Given the description of an element on the screen output the (x, y) to click on. 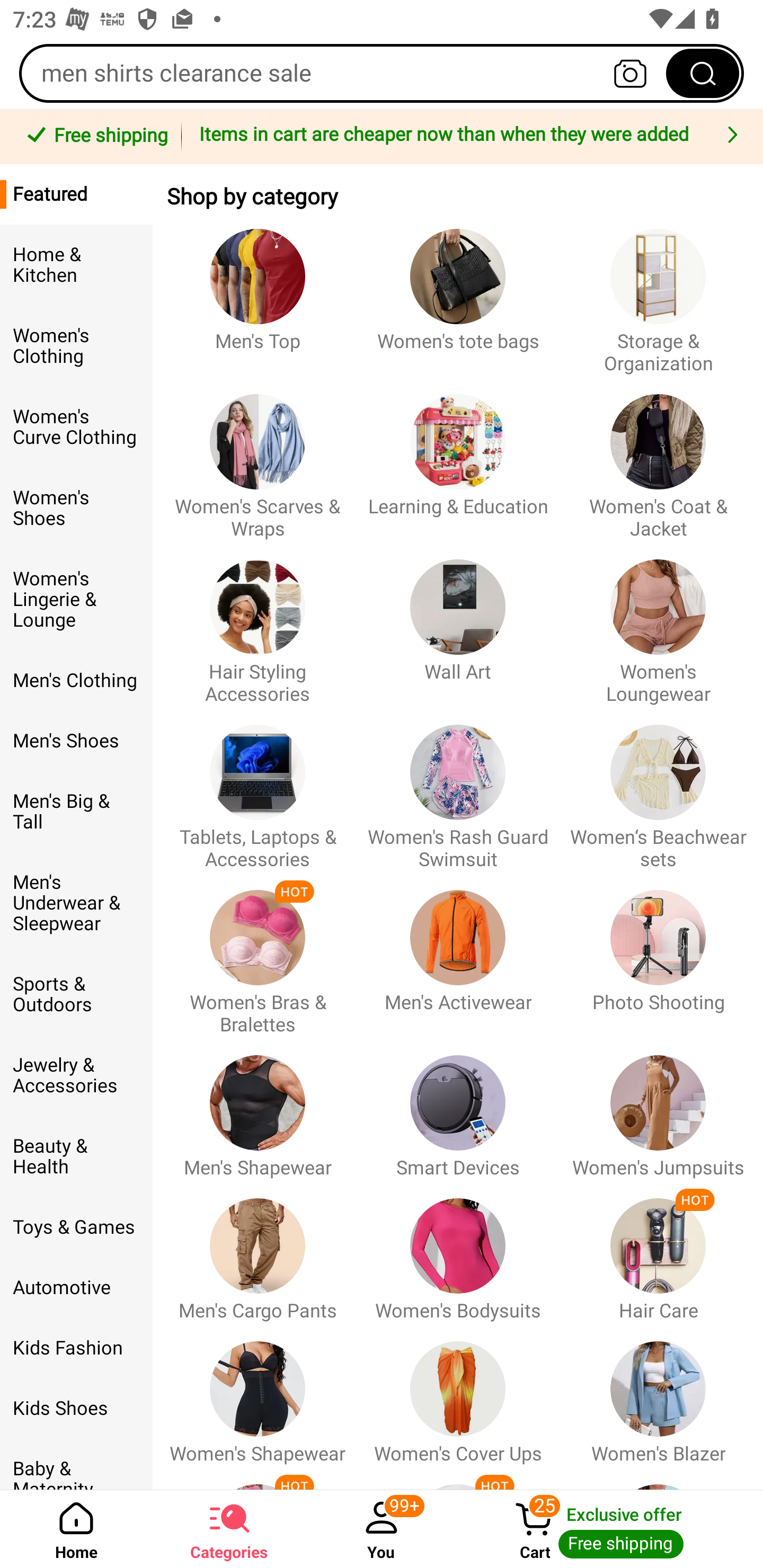
men shirts clearance sale (381, 73)
 Free shipping (93, 136)
Featured (76, 194)
Men's Top (257, 292)
Women's tote bags (457, 292)
Storage & Organization (657, 292)
Home & Kitchen (76, 264)
Women's Clothing (76, 346)
Women's Scarves & Wraps (257, 457)
Learning & Education (457, 457)
Women's Coat & Jacket (657, 457)
Women's Curve Clothing (76, 427)
Women's Shoes (76, 507)
Hair Styling Accessories (257, 622)
Wall Art (457, 622)
Women's Loungewear (657, 622)
Women's Lingerie & Lounge (76, 599)
Men's Clothing (76, 680)
Tablets, Laptops & Accessories (257, 787)
Women's Rash Guard Swimsuit (457, 787)
Women‘s Beachwear sets (657, 787)
Men's Shoes (76, 740)
Men's Big & Tall (76, 811)
Men's Underwear & Sleepwear (76, 902)
Women's Bras & Bralettes (257, 953)
Men's Activewear (457, 953)
Photo Shooting (657, 953)
Sports & Outdoors (76, 993)
Jewelry & Accessories (76, 1075)
Men's Shapewear (257, 1107)
Smart Devices (457, 1107)
Women's Jumpsuits (657, 1107)
Beauty & Health (76, 1156)
Men's Cargo Pants (257, 1250)
Women's Bodysuits (457, 1250)
Hair Care (657, 1250)
Toys & Games (76, 1227)
Automotive (76, 1287)
Kids Fashion (76, 1348)
Women's Shapewear (257, 1392)
Women's Cover Ups (457, 1392)
Women's Blazer (657, 1392)
Kids Shoes (76, 1408)
Baby & Maternity (76, 1464)
Home (76, 1528)
Categories (228, 1528)
You ‎99+‎ You (381, 1528)
Cart 25 Cart Exclusive offer (610, 1528)
